Given the description of an element on the screen output the (x, y) to click on. 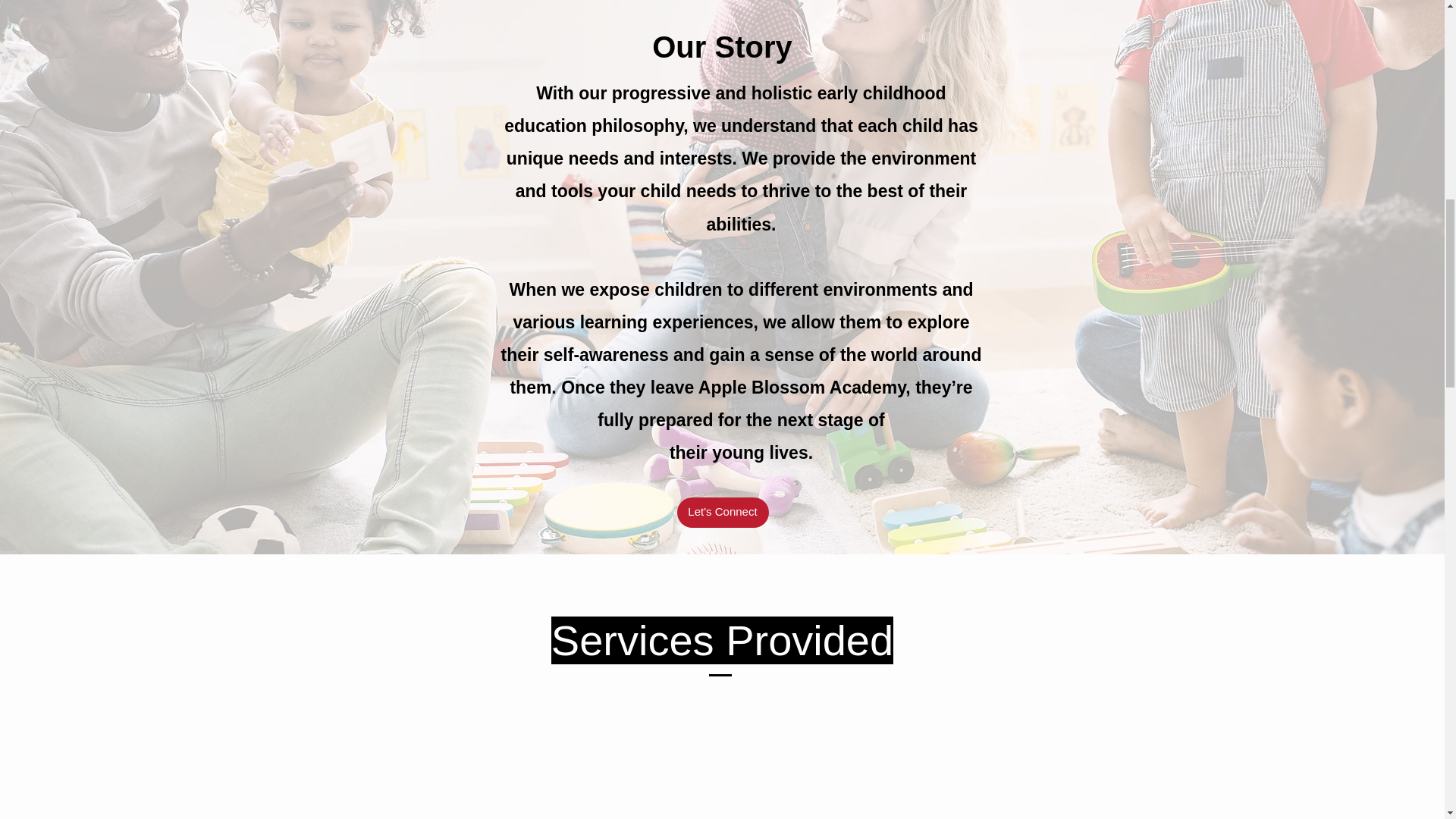
Let's Connect (722, 512)
